Given the description of an element on the screen output the (x, y) to click on. 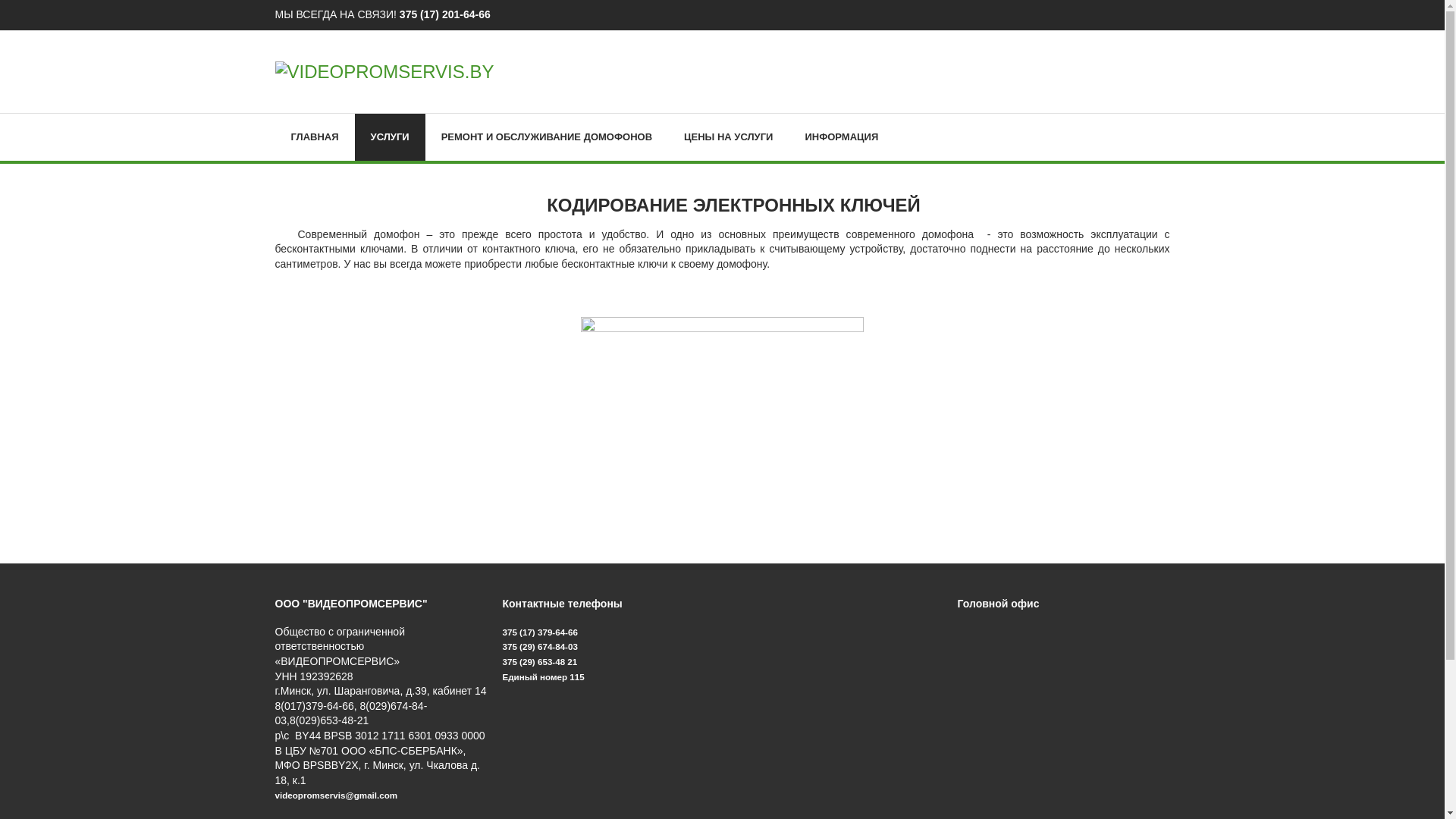
videopromservis.by Element type: hover (383, 70)
